Given the description of an element on the screen output the (x, y) to click on. 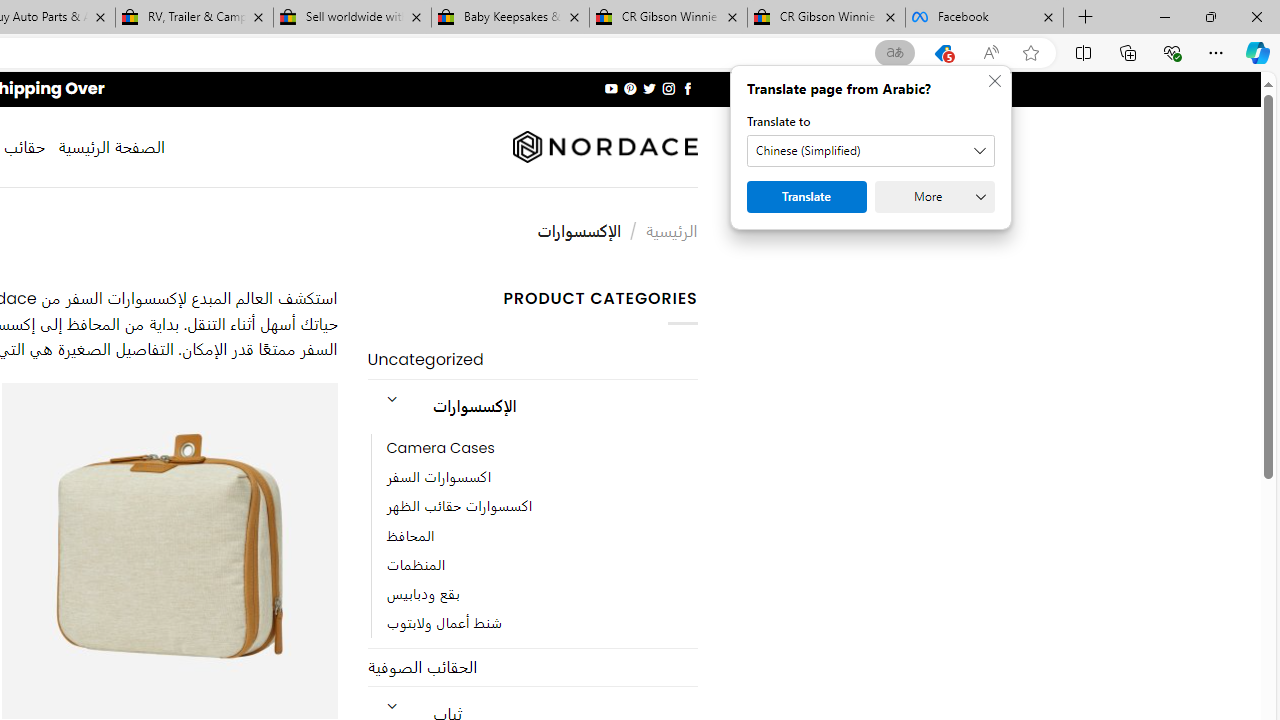
Uncategorized (532, 359)
RV, Trailer & Camper Steps & Ladders for sale | eBay (194, 17)
Follow on Facebook (686, 88)
Camera Cases (440, 448)
